Given the description of an element on the screen output the (x, y) to click on. 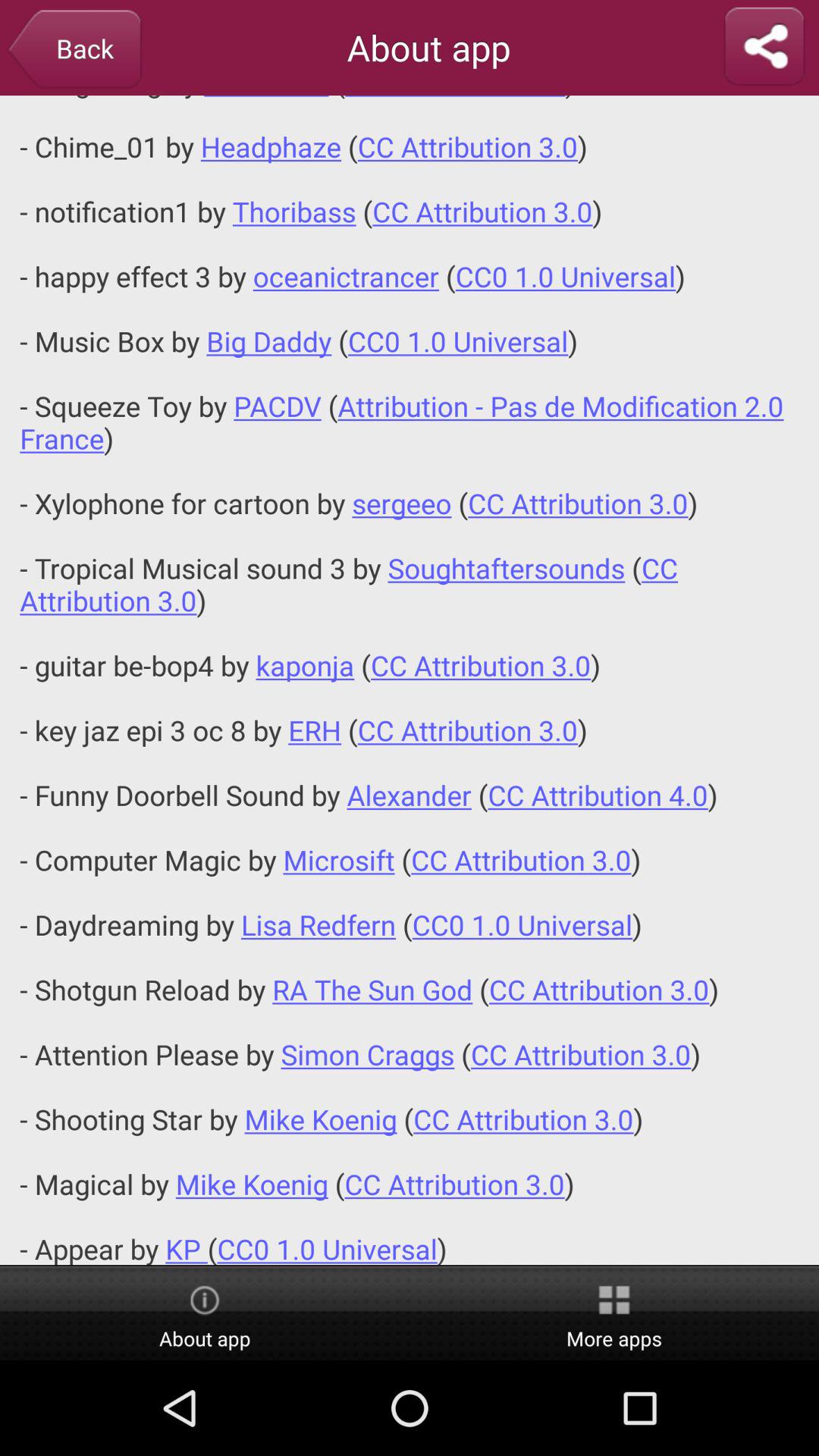
select button next to about app item (614, 1314)
